Given the description of an element on the screen output the (x, y) to click on. 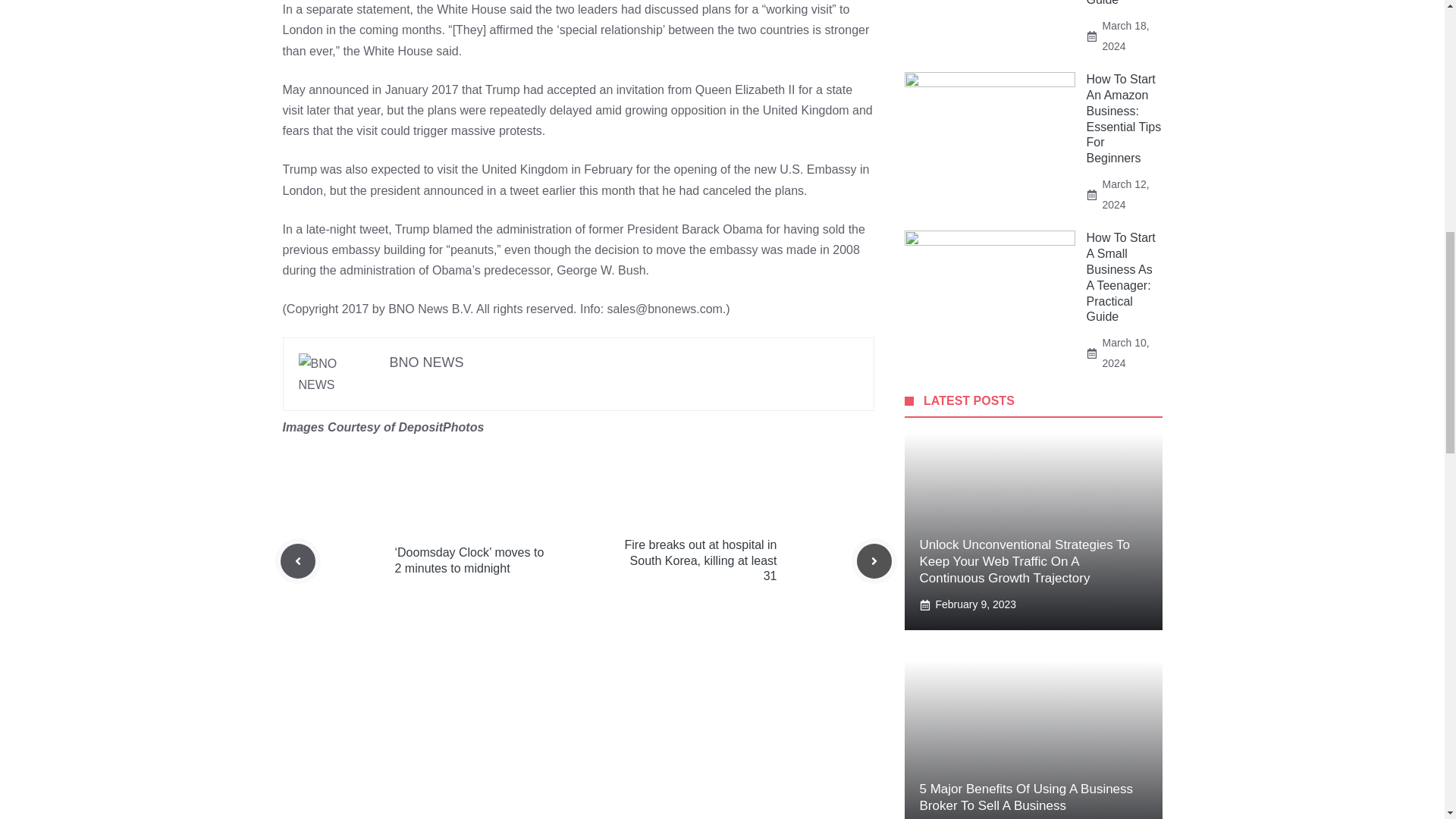
How to Start a Dance Studio: Your Step-by-Step Success Guide (1121, 2)
BNO NEWS (427, 362)
DepositPhotos (440, 427)
Scroll back to top (1406, 720)
